Given the description of an element on the screen output the (x, y) to click on. 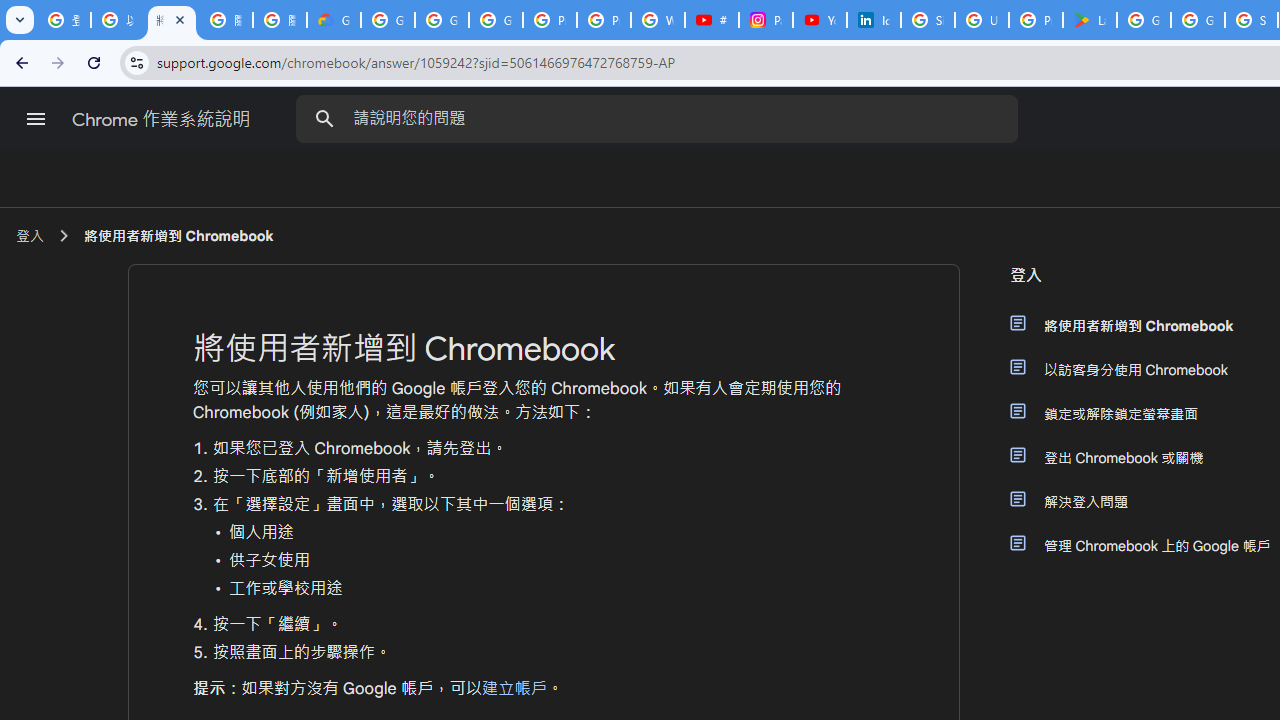
Reload (93, 62)
Last Shelter: Survival - Apps on Google Play (1089, 20)
Close (180, 19)
Search tabs (20, 20)
Sign in - Google Accounts (927, 20)
#nbabasketballhighlights - YouTube (711, 20)
